Given the description of an element on the screen output the (x, y) to click on. 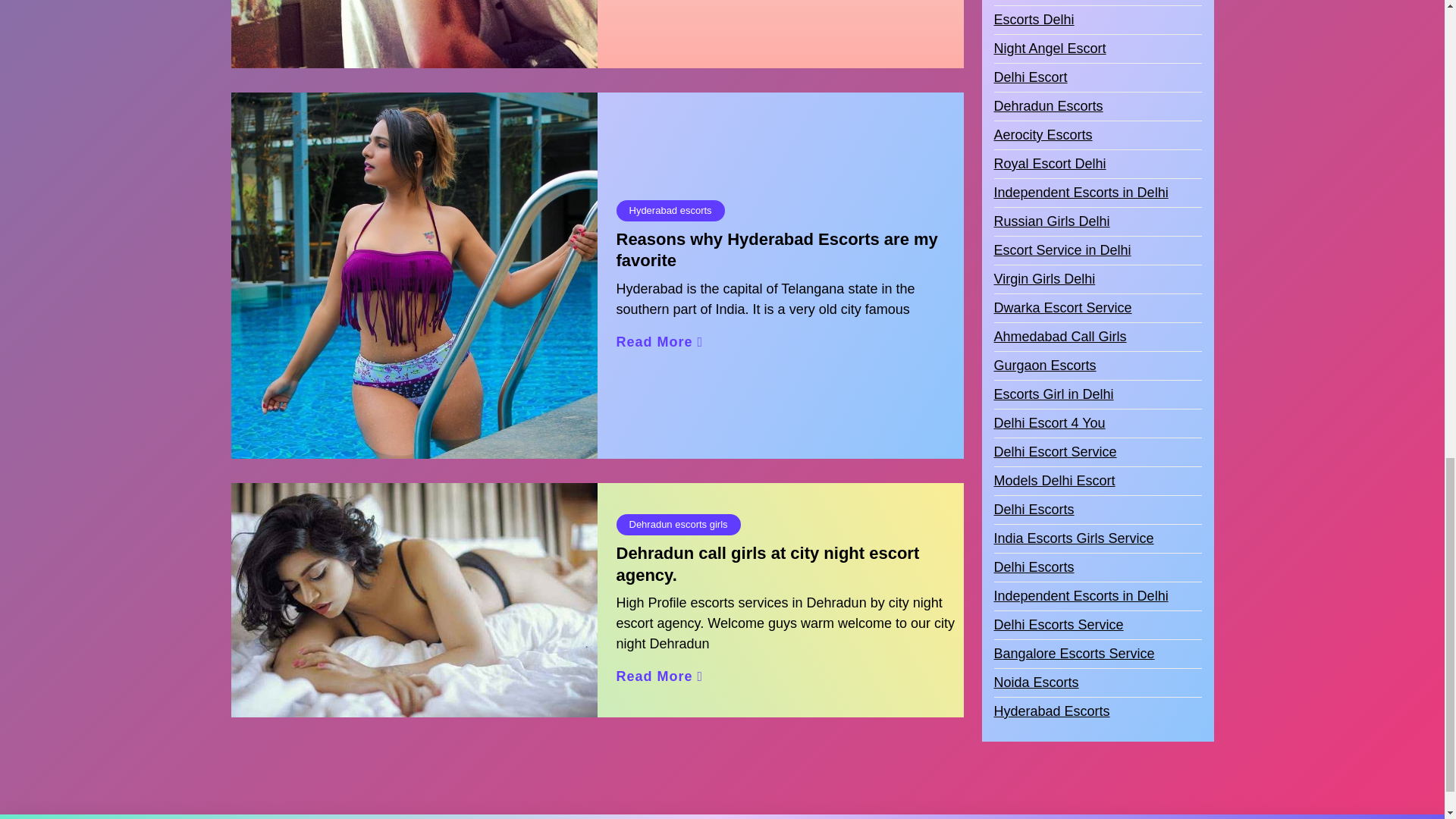
Reasons why Hyderabad Escorts are my favorite (785, 250)
Hyderabad escorts (669, 210)
Dehradun escorts girls (677, 524)
Read More (659, 342)
Read More (659, 676)
Dehradun call girls at city night escort agency. (785, 564)
